Given the description of an element on the screen output the (x, y) to click on. 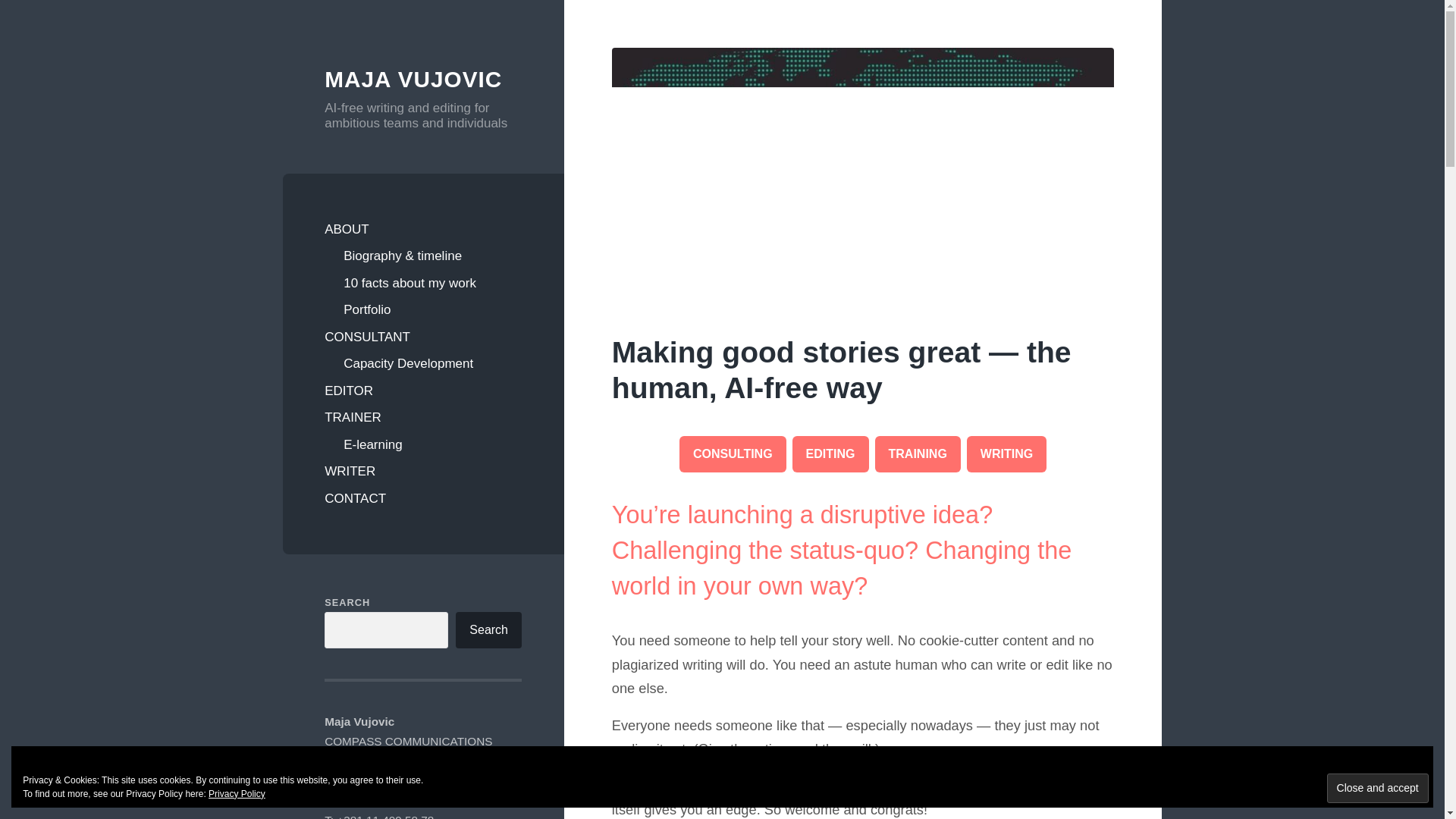
10 facts about my work (432, 283)
WRITING (1006, 453)
EDITOR (422, 390)
MAJA VUJOVIC (413, 78)
Search (488, 629)
CONTACT (422, 498)
TRAINING (917, 453)
Portfolio (432, 309)
E-learning (432, 444)
TRAINER (422, 417)
